Given the description of an element on the screen output the (x, y) to click on. 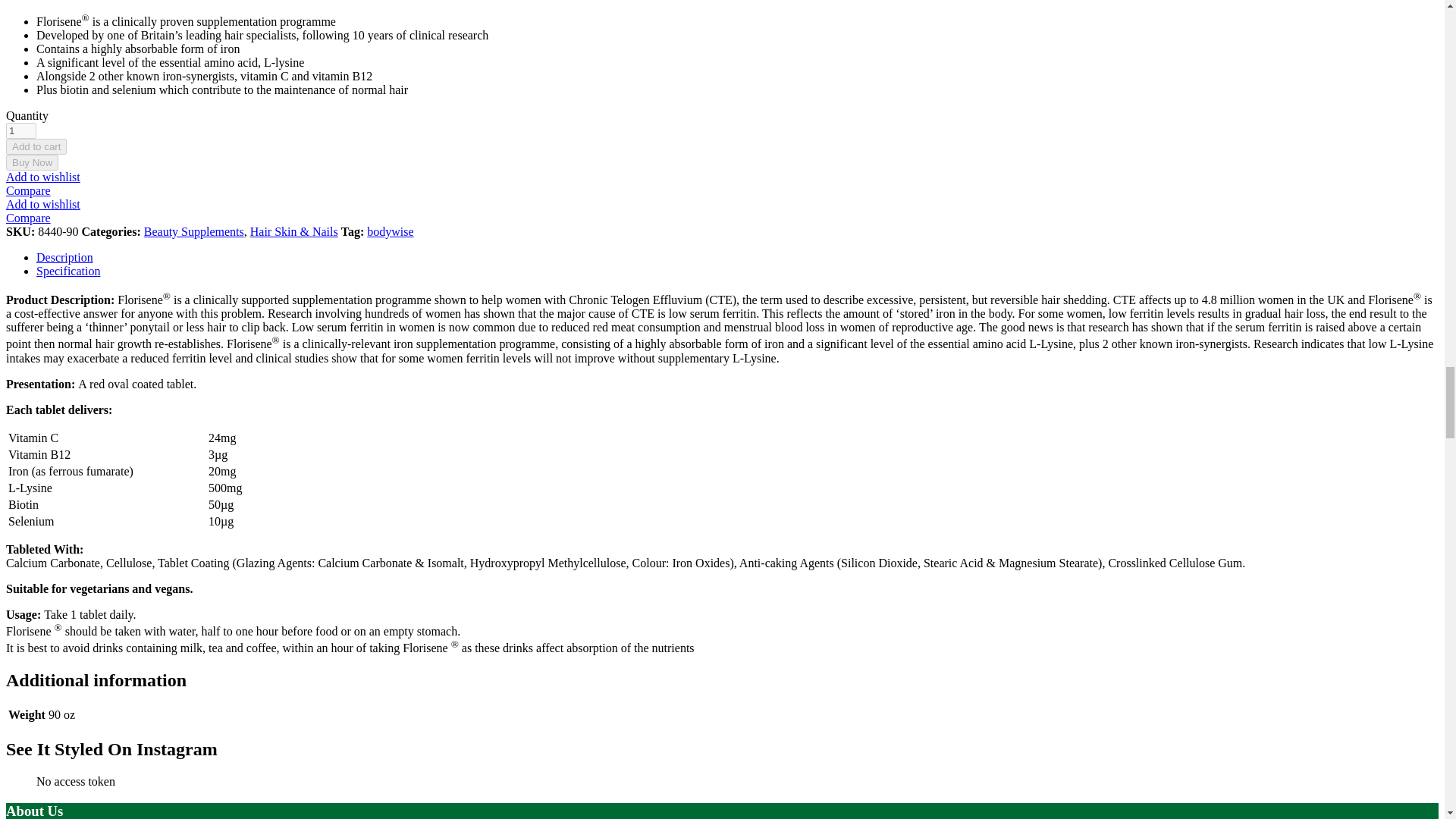
1 (20, 130)
Qty (20, 130)
Add to wishlist (42, 176)
Compare (27, 190)
Add to wishlist (42, 204)
